Given the description of an element on the screen output the (x, y) to click on. 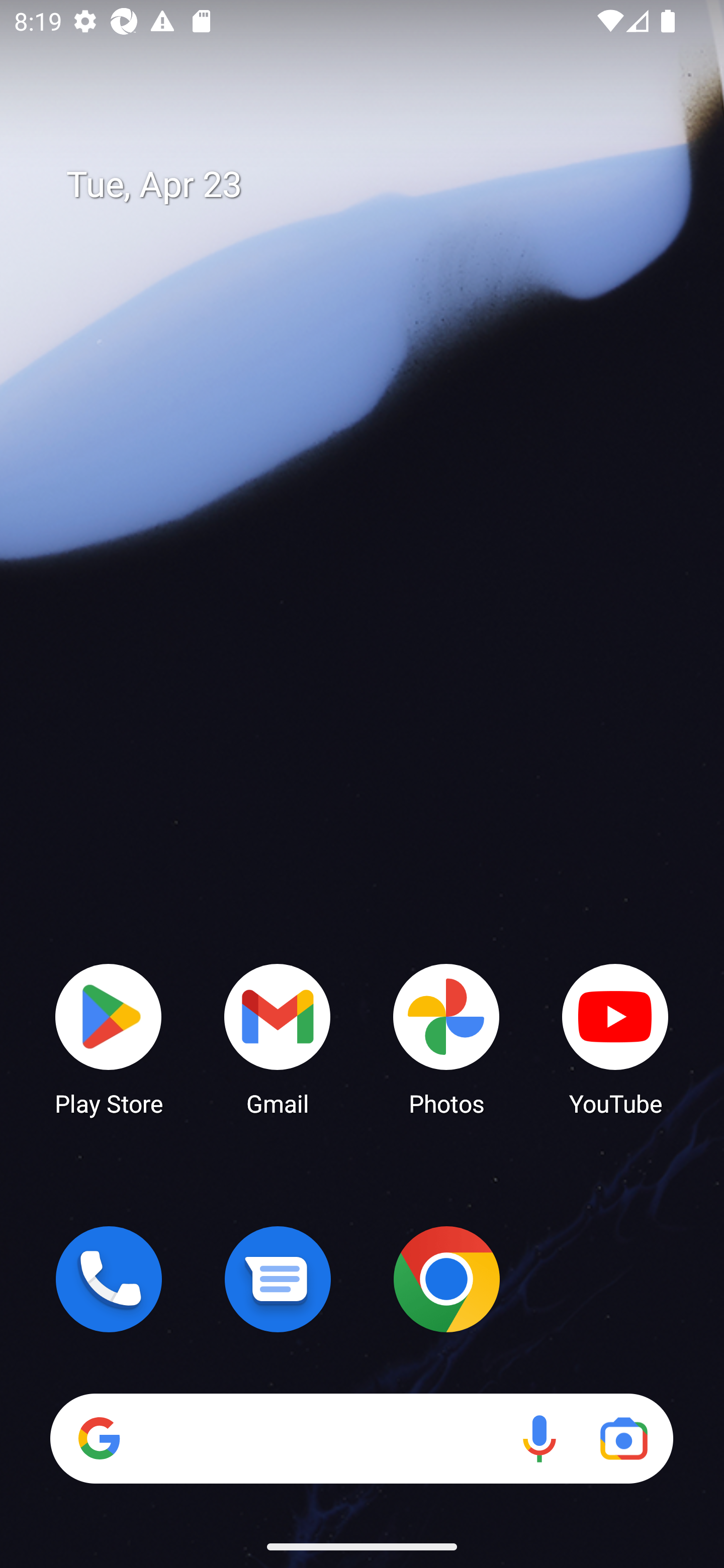
Tue, Apr 23 (375, 184)
Play Store (108, 1038)
Gmail (277, 1038)
Photos (445, 1038)
YouTube (615, 1038)
Phone (108, 1279)
Messages (277, 1279)
Chrome (446, 1279)
Search Voice search Google Lens (361, 1438)
Voice search (539, 1438)
Google Lens (623, 1438)
